Given the description of an element on the screen output the (x, y) to click on. 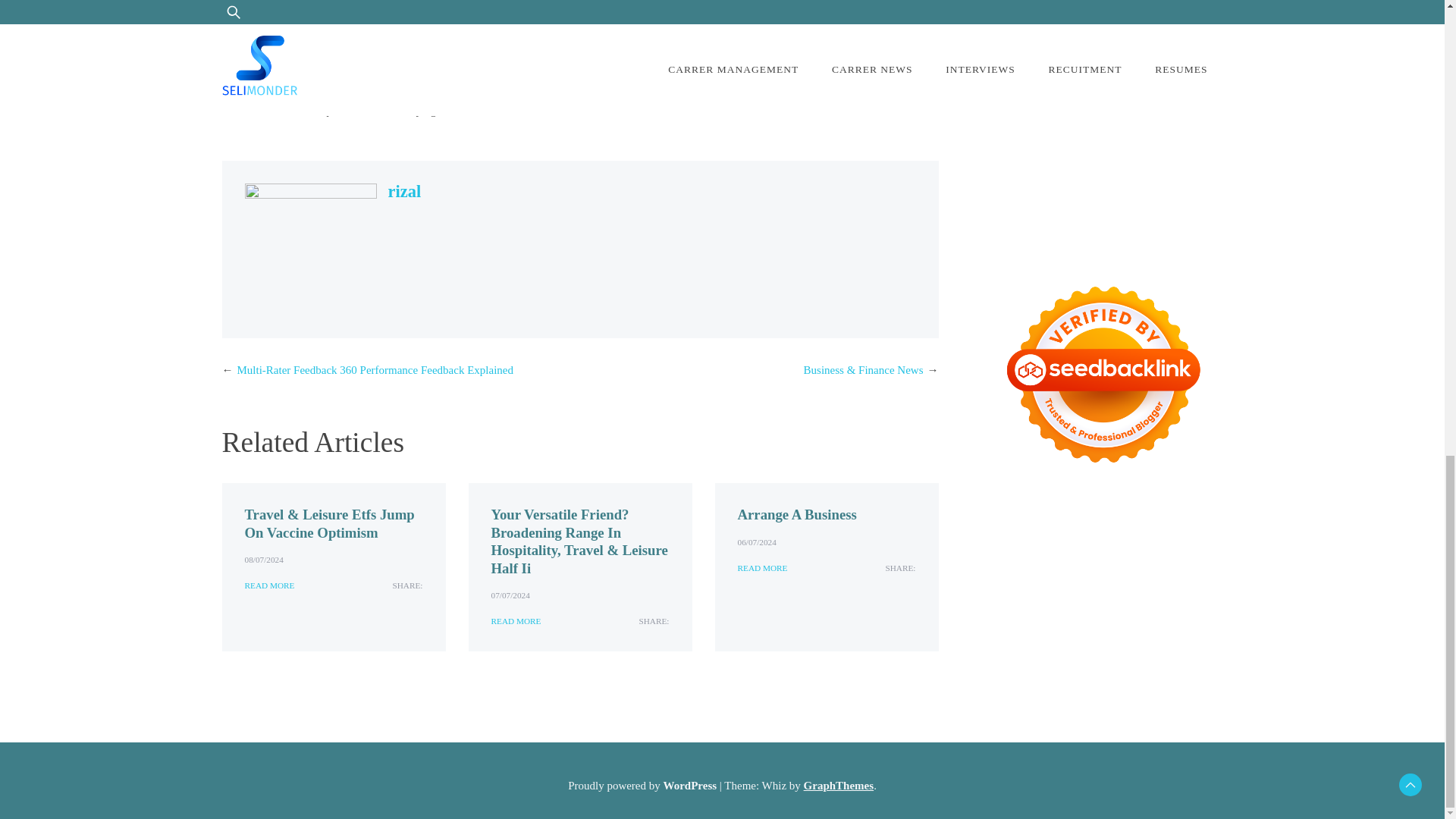
Automotive Technology (579, 51)
READ MORE (516, 621)
rizal (405, 190)
Multi-Rater Feedback 360 Performance Feedback Explained (373, 369)
READ MORE (269, 585)
READ MORE (761, 568)
Arrange A Business (796, 514)
Seedbacklink (1103, 373)
